Given the description of an element on the screen output the (x, y) to click on. 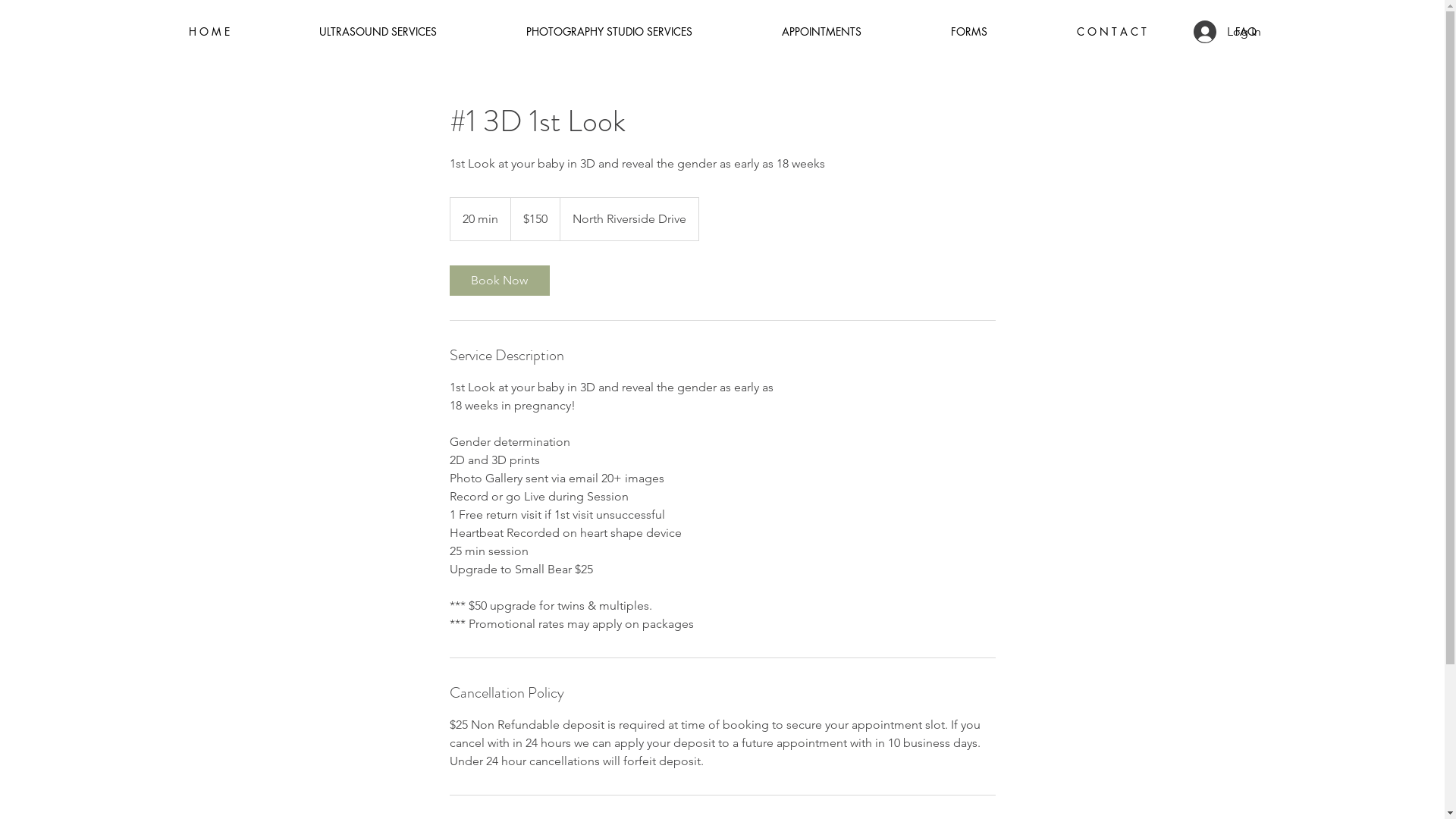
PHOTOGRAPHY STUDIO SERVICES Element type: text (608, 31)
H O M E Element type: text (208, 31)
Book Now Element type: text (498, 280)
APPOINTMENTS Element type: text (820, 31)
C O N T A C T Element type: text (1110, 31)
FAQ Element type: text (1245, 31)
ULTRASOUND SERVICES Element type: text (376, 31)
Log In Element type: text (1227, 31)
